Given the description of an element on the screen output the (x, y) to click on. 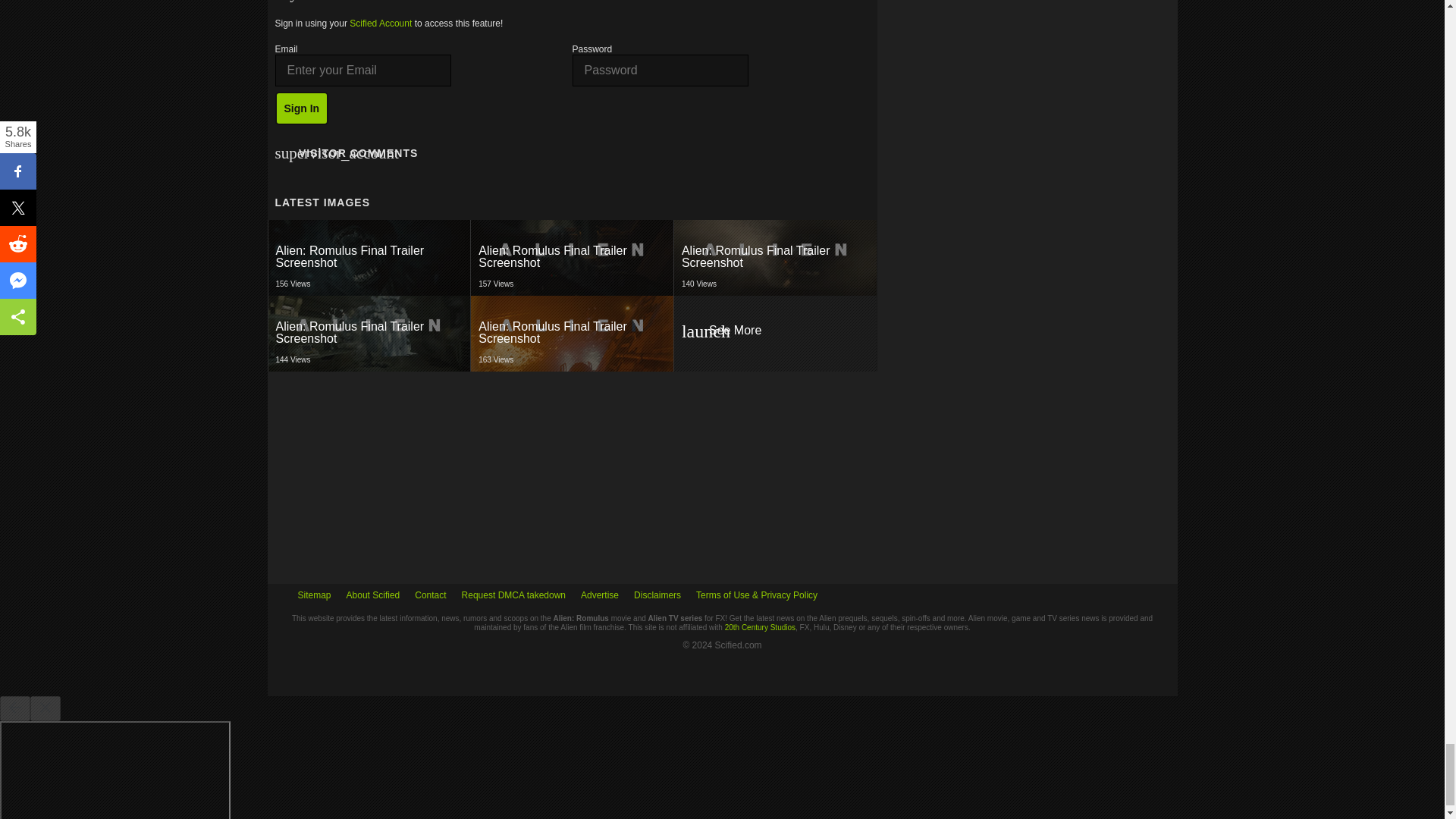
See More (571, 257)
See More (368, 333)
